Given the description of an element on the screen output the (x, y) to click on. 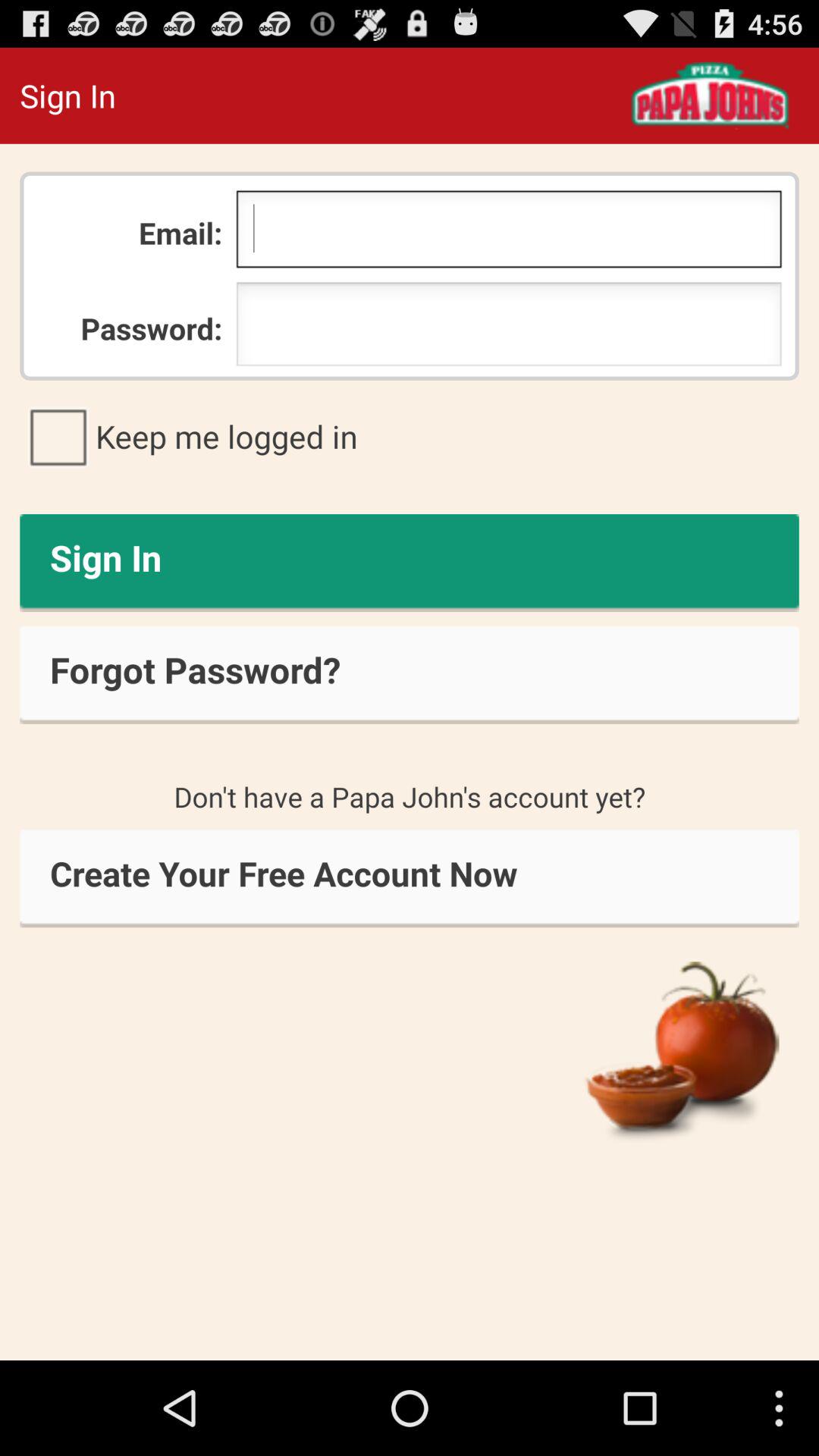
jump until forgot password? icon (409, 675)
